Given the description of an element on the screen output the (x, y) to click on. 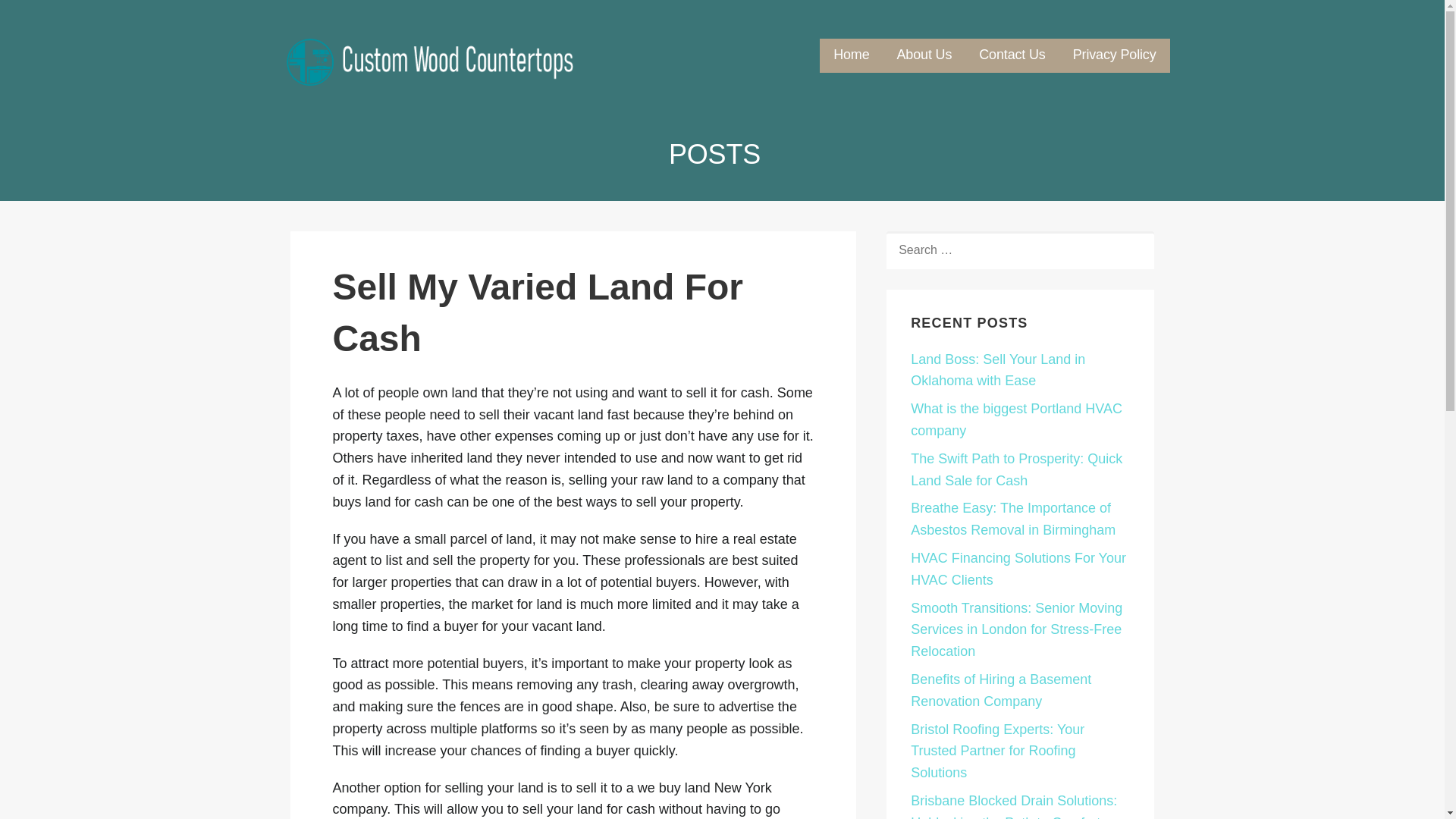
Custom Wood Countertops (422, 95)
HVAC Financing Solutions For Your HVAC Clients (1018, 569)
Search (47, 17)
Land Boss: Sell Your Land in Oklahoma with Ease (997, 370)
Contact Us (1011, 55)
Home (850, 55)
What is the biggest Portland HVAC company (1016, 419)
About Us (924, 55)
The Swift Path to Prosperity: Quick Land Sale for Cash (1016, 469)
Privacy Policy (1114, 55)
Benefits of Hiring a Basement Renovation Company (1000, 690)
